Given the description of an element on the screen output the (x, y) to click on. 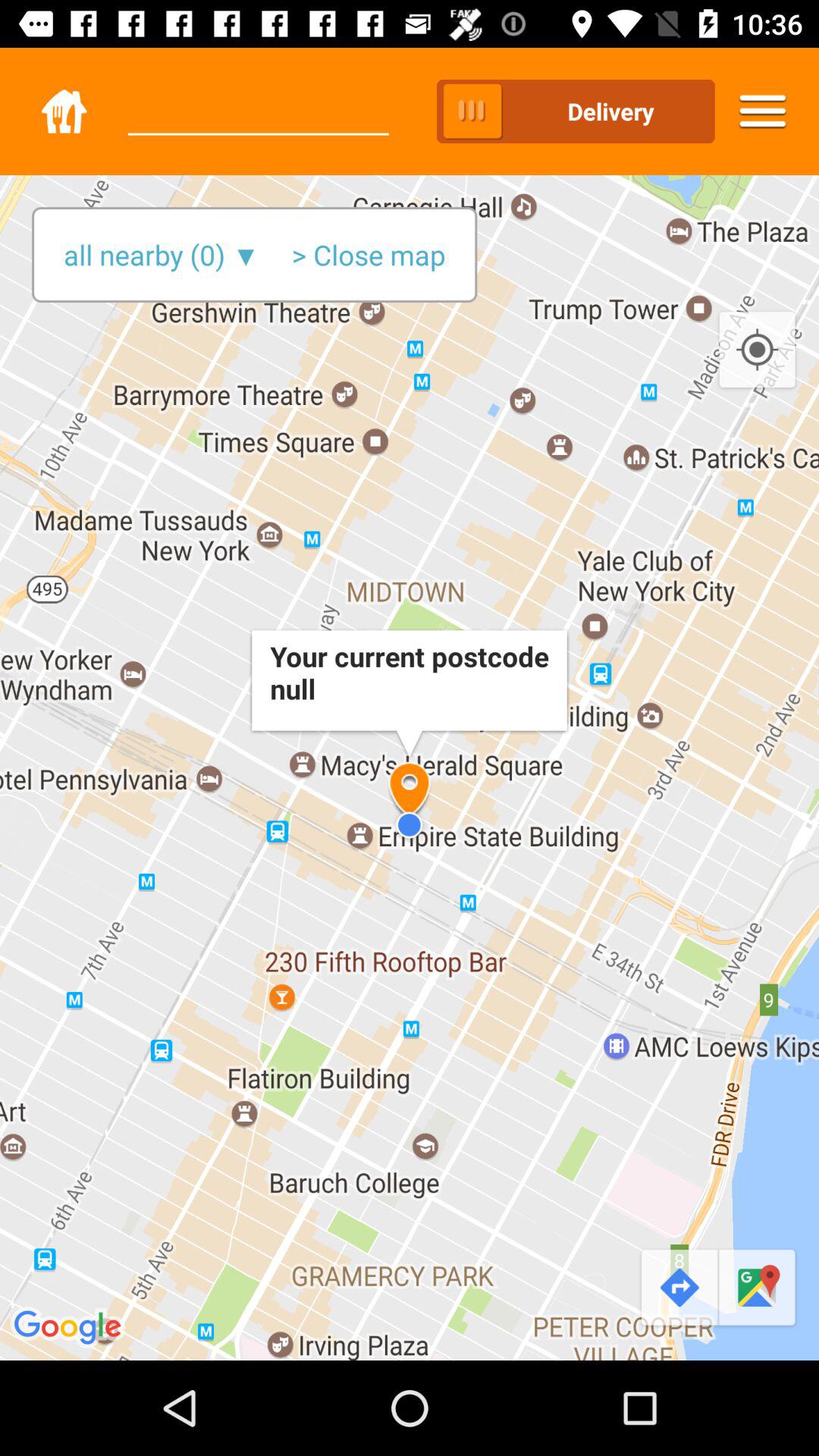
select item below pickup (368, 254)
